Given the description of an element on the screen output the (x, y) to click on. 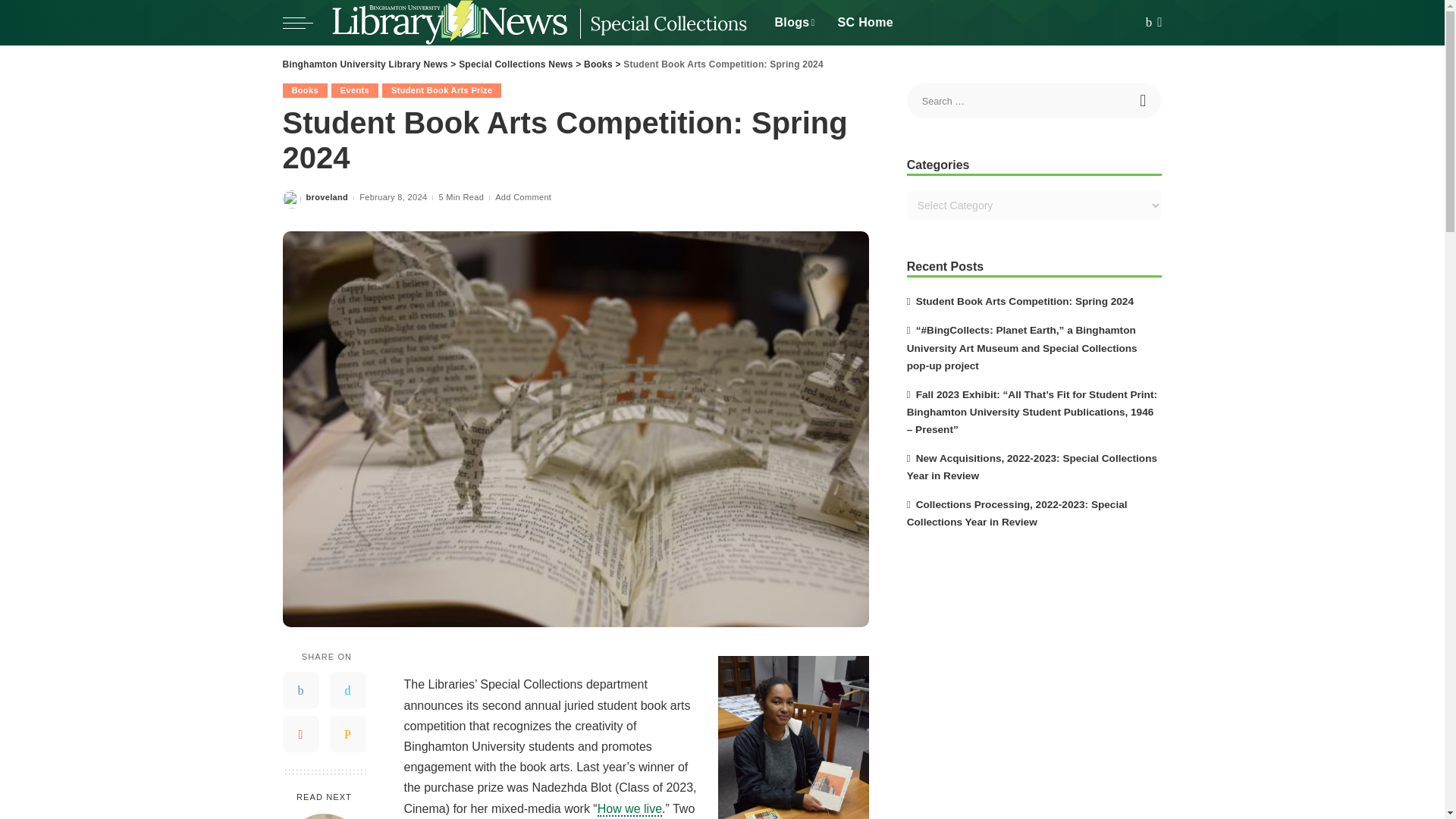
Special Collections News (539, 22)
Special Collections Homepage (865, 22)
Search (1143, 100)
Go to Special Collections News. (515, 63)
Search (1143, 100)
Go to Binghamton University Library News. (364, 63)
Go to the Books Category archives. (597, 63)
